Given the description of an element on the screen output the (x, y) to click on. 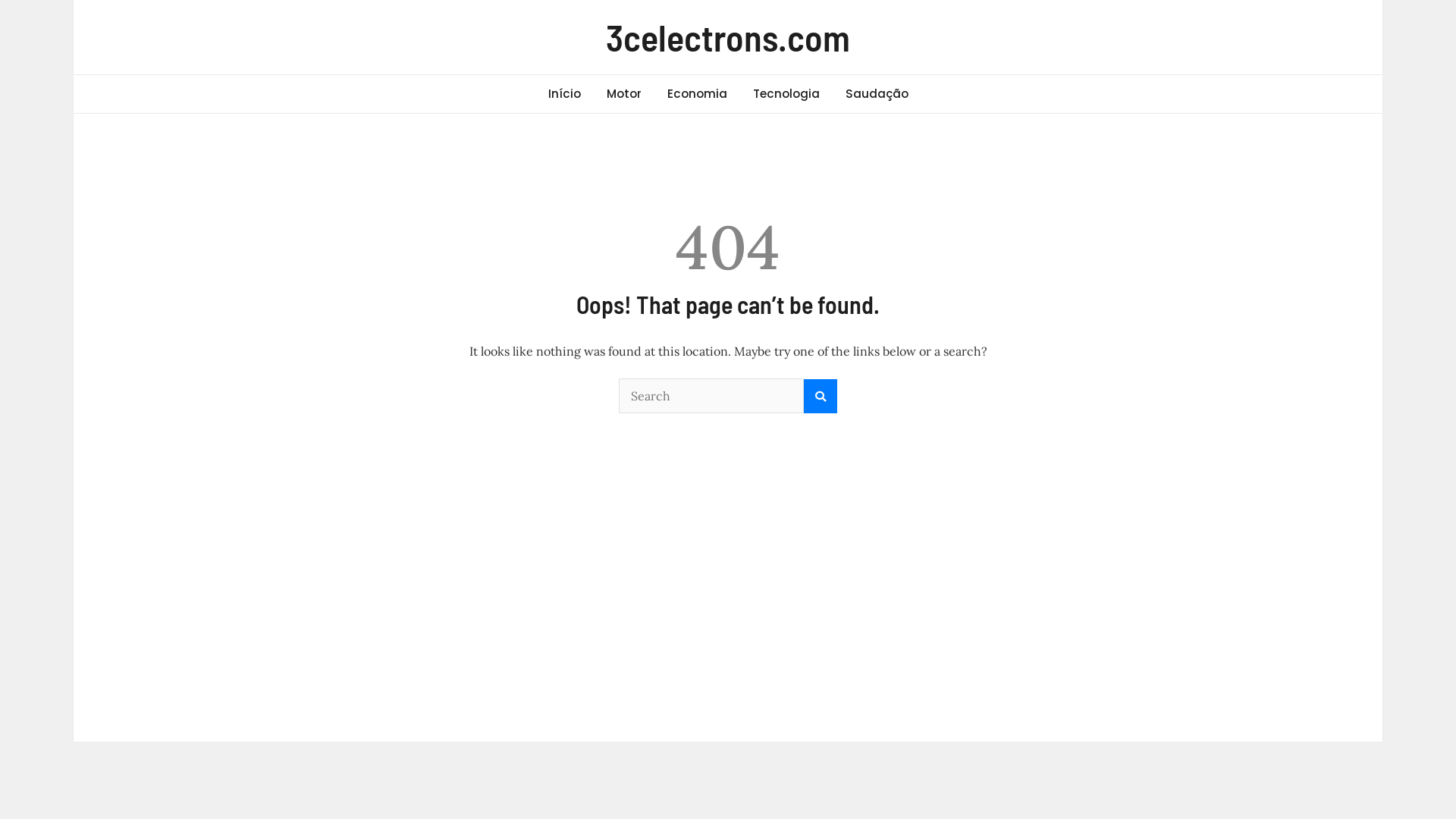
3celectrons.com Element type: text (727, 37)
Motor Element type: text (623, 93)
Economia Element type: text (696, 93)
Tecnologia Element type: text (786, 93)
